Given the description of an element on the screen output the (x, y) to click on. 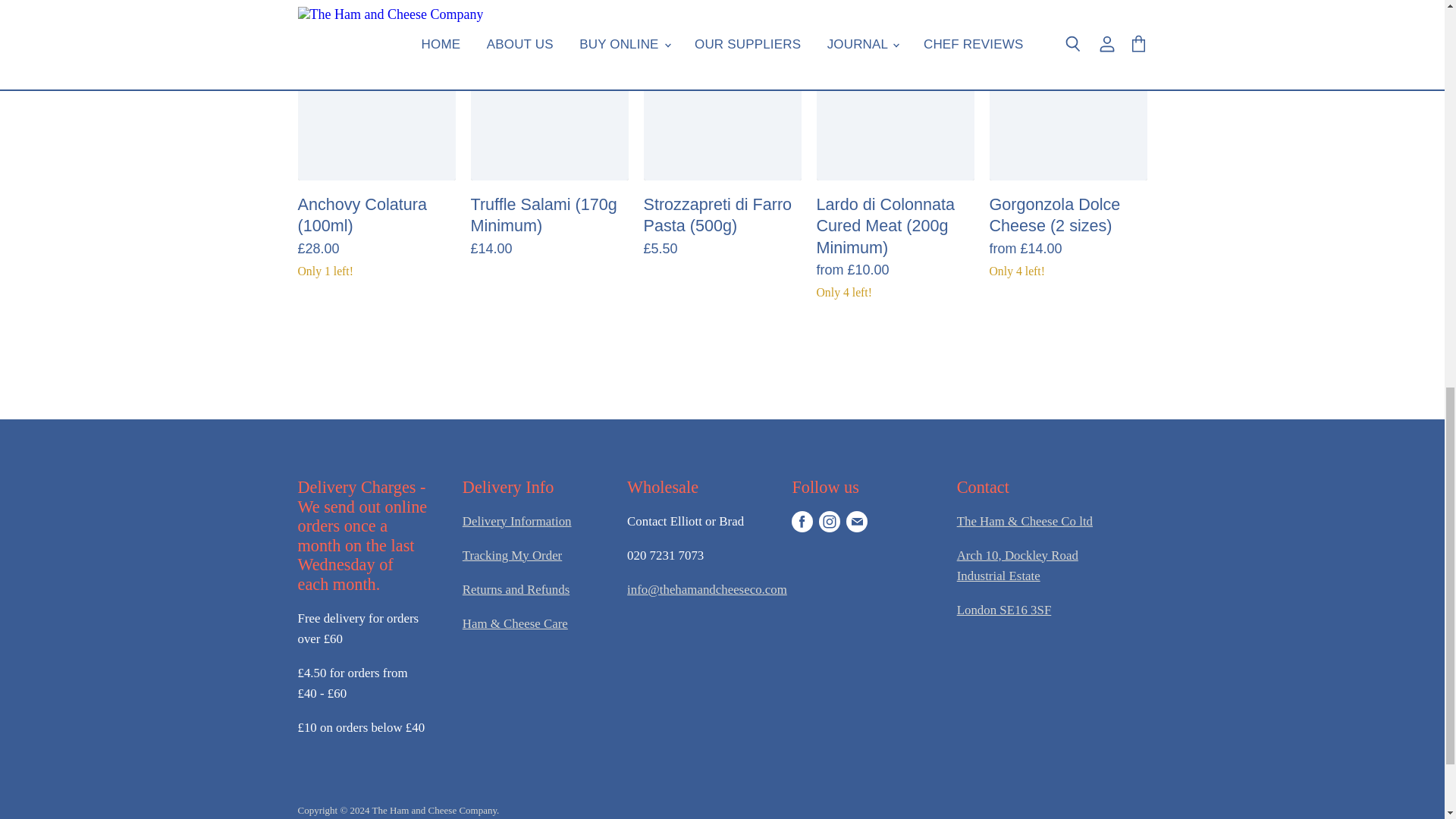
Returns and Refunds (516, 589)
Contact Us (707, 589)
Tracking My Order (512, 554)
Instagram (829, 521)
Contact Us (1017, 565)
Delivery Details (517, 521)
Cheese and Salumi Care (515, 623)
Facebook (802, 521)
Contact Us (1024, 521)
Contact Us (1003, 609)
E-mail (856, 521)
